Given the description of an element on the screen output the (x, y) to click on. 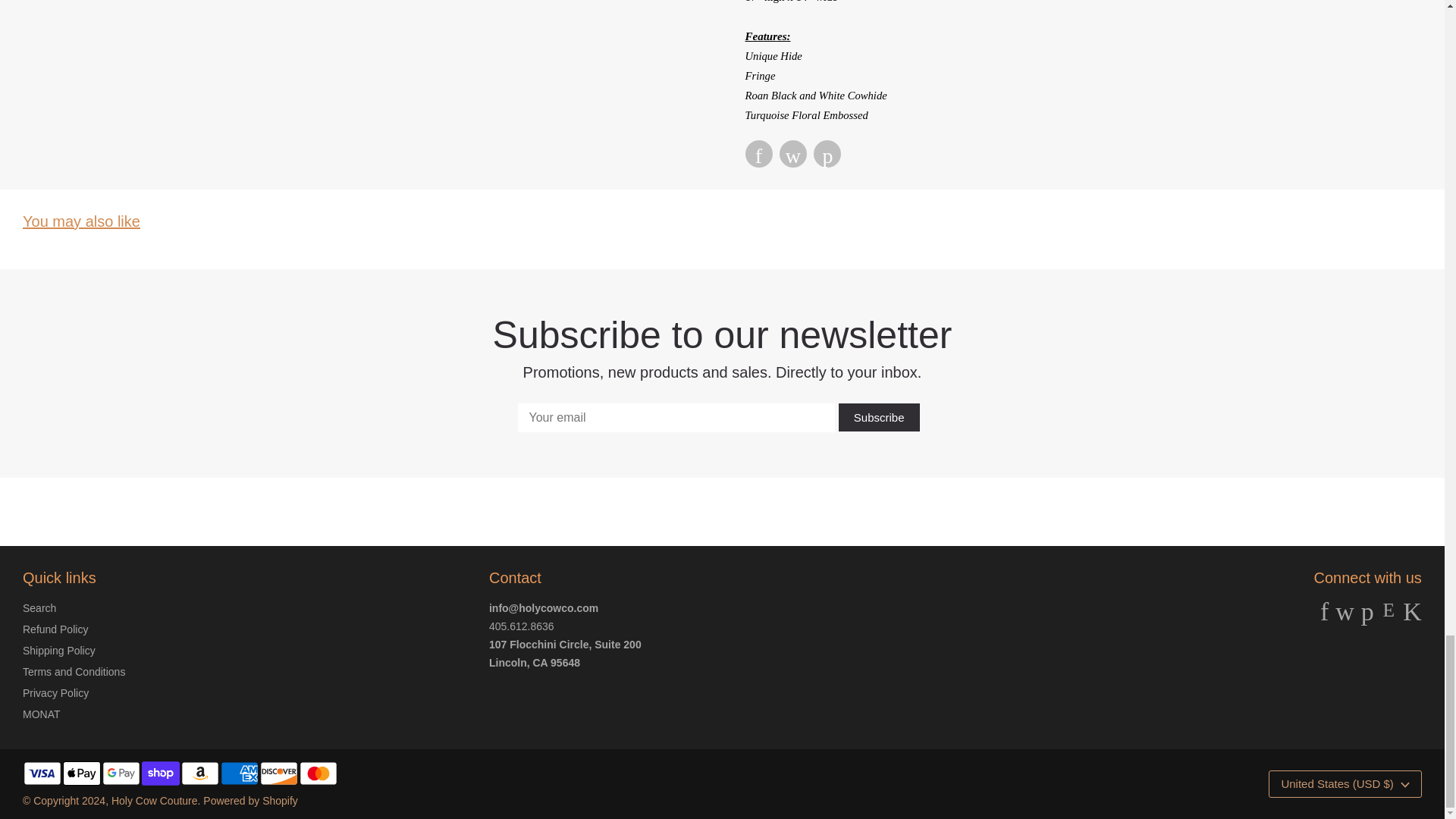
Holy Cow Couture on Instagram (1388, 616)
Holy Cow Couture on Tiktok (1412, 616)
MAP TO HCC (565, 644)
Holy Cow Couture on Twitter (1344, 616)
Subscribe (879, 417)
MAP TO HCC (534, 662)
Holy Cow Couture on Pinterest (1367, 616)
